Given the description of an element on the screen output the (x, y) to click on. 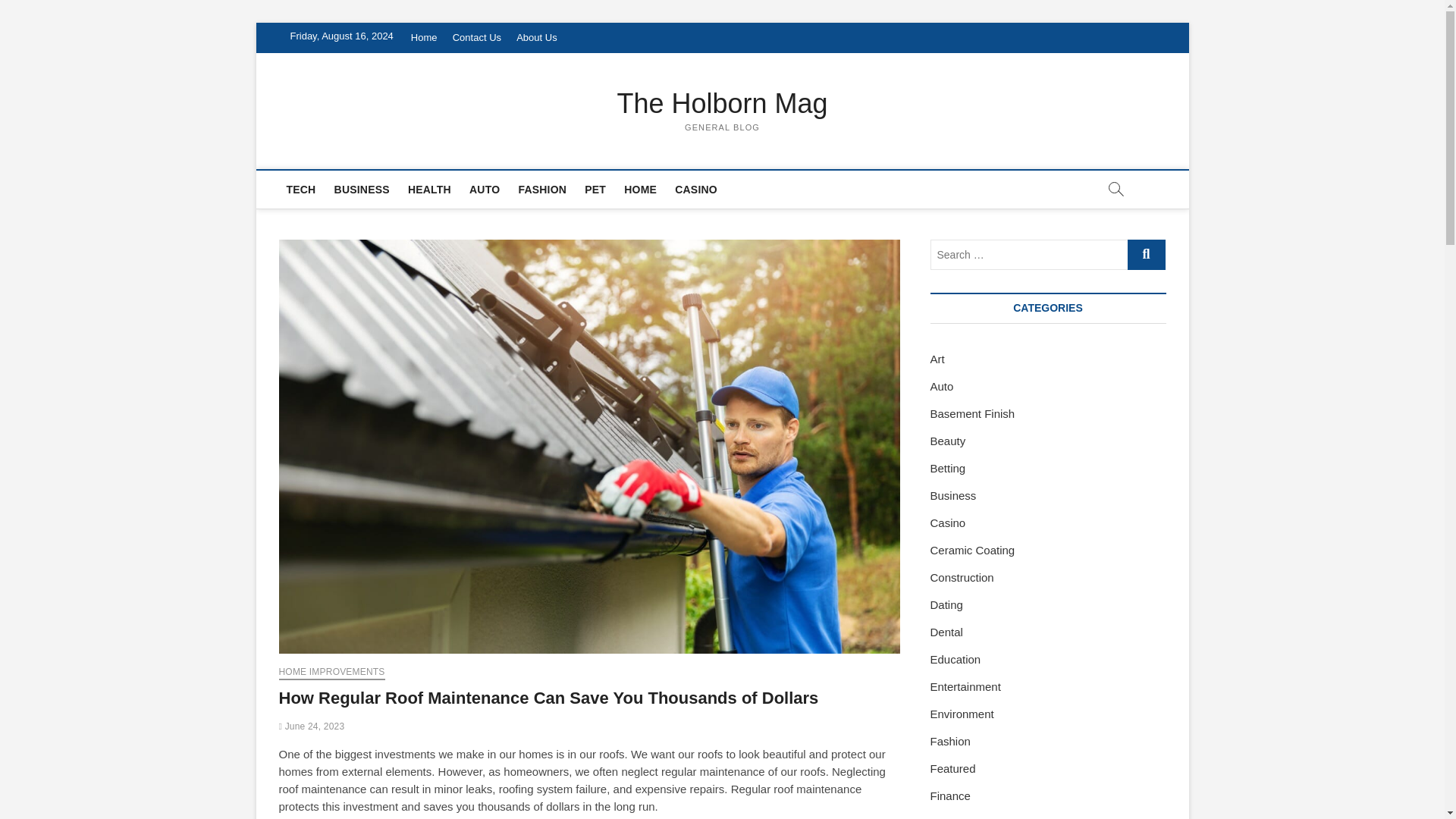
Auto (941, 386)
June 24, 2023 (312, 726)
Ceramic Coating (972, 549)
TECH (301, 189)
Basement Finish (972, 413)
Business (952, 495)
The Holborn Mag (722, 103)
The Holborn Mag (722, 103)
Art (936, 358)
